Given the description of an element on the screen output the (x, y) to click on. 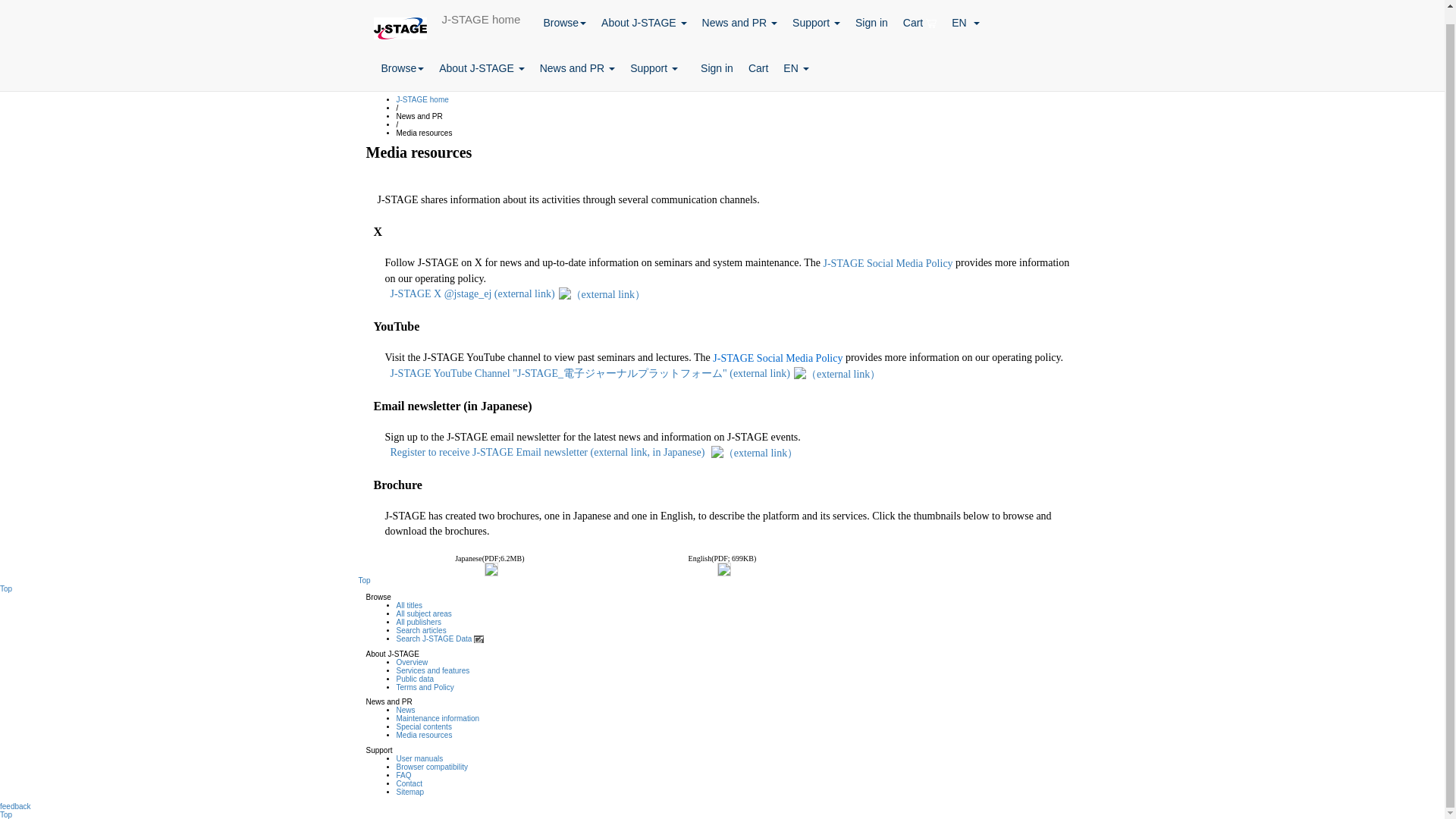
Browse (401, 53)
News and PR (739, 15)
J-STAGE home (480, 12)
Support (815, 15)
Cart (919, 15)
About J-STAGE (480, 53)
Browse (564, 15)
EN (965, 15)
Sign in (871, 15)
About J-STAGE (644, 15)
